Given the description of an element on the screen output the (x, y) to click on. 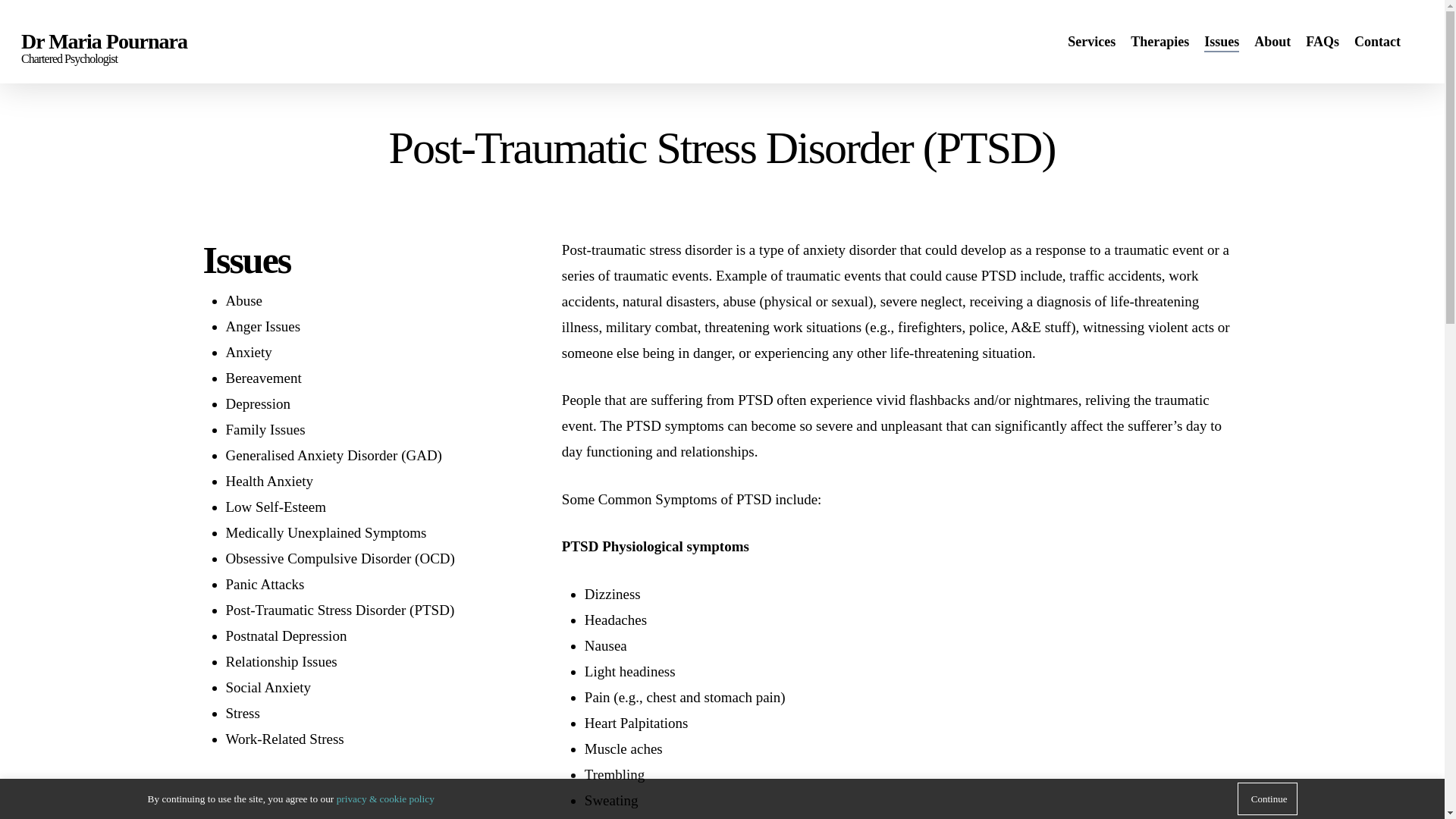
FAQs (1322, 41)
Issues (1221, 41)
Anger Issues (263, 326)
Family Issues (265, 429)
About (1271, 41)
Services (1091, 41)
Therapies (1160, 41)
Depression (257, 403)
Dr Maria Pournara (104, 41)
Anxiety (248, 351)
Contact (1377, 41)
Abuse (244, 300)
Bereavement (263, 377)
